Given the description of an element on the screen output the (x, y) to click on. 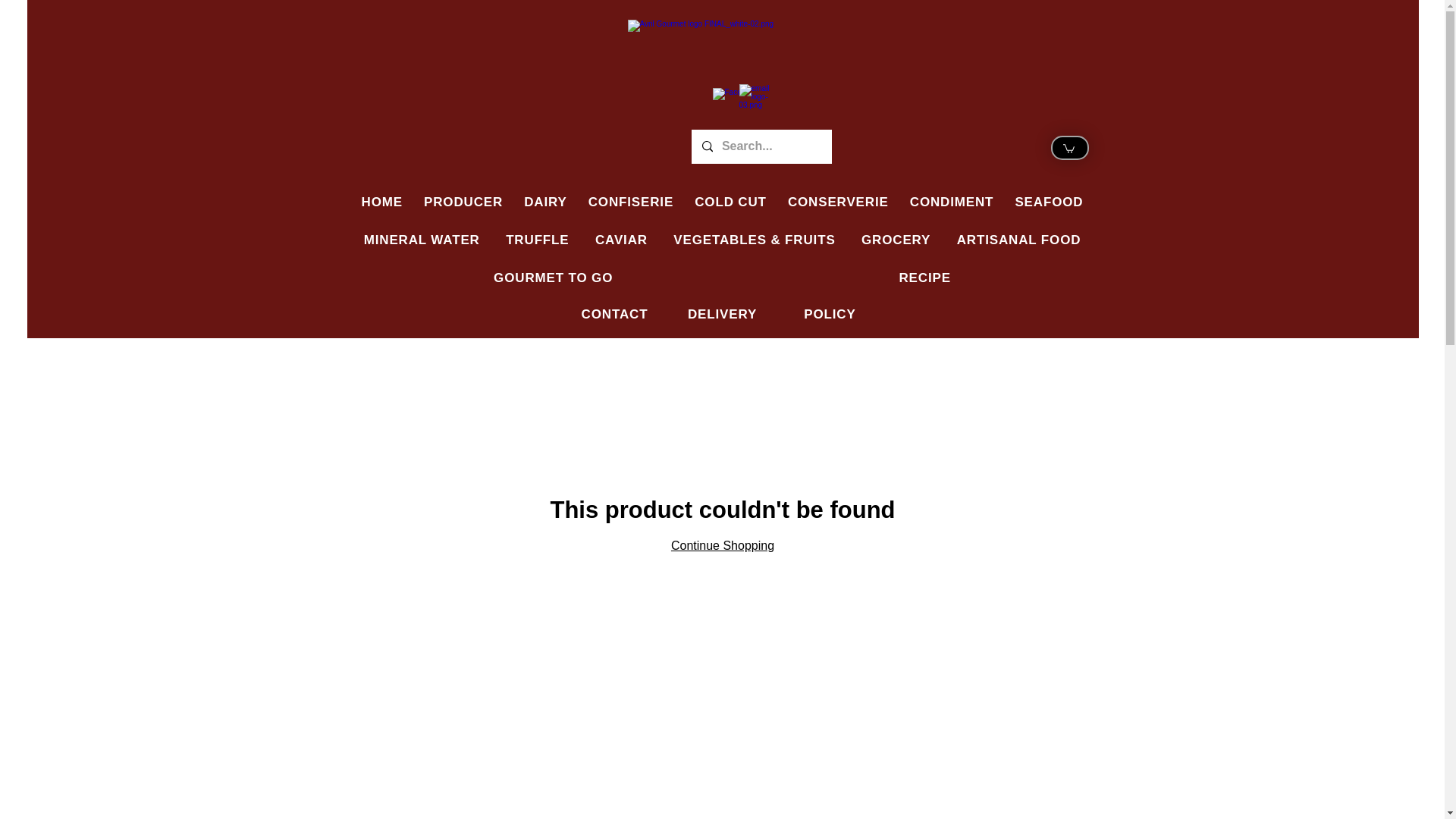
MINERAL WATER (422, 240)
PRODUCER (462, 202)
Continue Shopping (722, 545)
CAVIAR (621, 240)
TRUFFLE (536, 240)
HOME (382, 202)
DAIRY (544, 202)
ARTISANAL FOOD (1018, 240)
CONDIMENT (951, 202)
CONFISERIE (630, 202)
GROCERY (895, 240)
SEAFOOD (1048, 202)
COLD CUT (730, 202)
CONSERVERIE (837, 202)
